Given the description of an element on the screen output the (x, y) to click on. 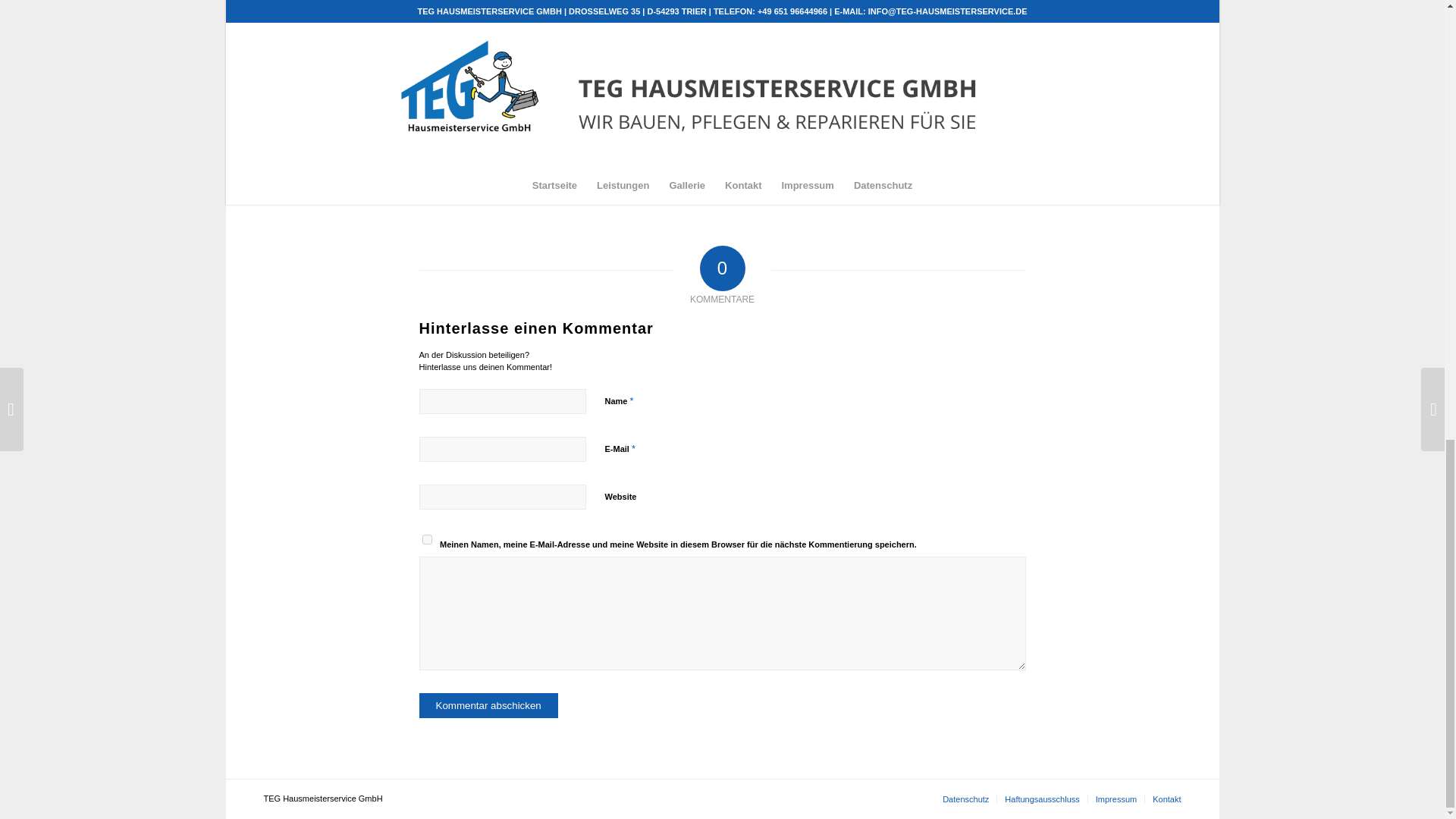
yes (426, 539)
brazilian mail order brides (745, 88)
Kommentar abschicken (488, 705)
Kommentar abschicken (488, 705)
Datenschutz (965, 798)
